Given the description of an element on the screen output the (x, y) to click on. 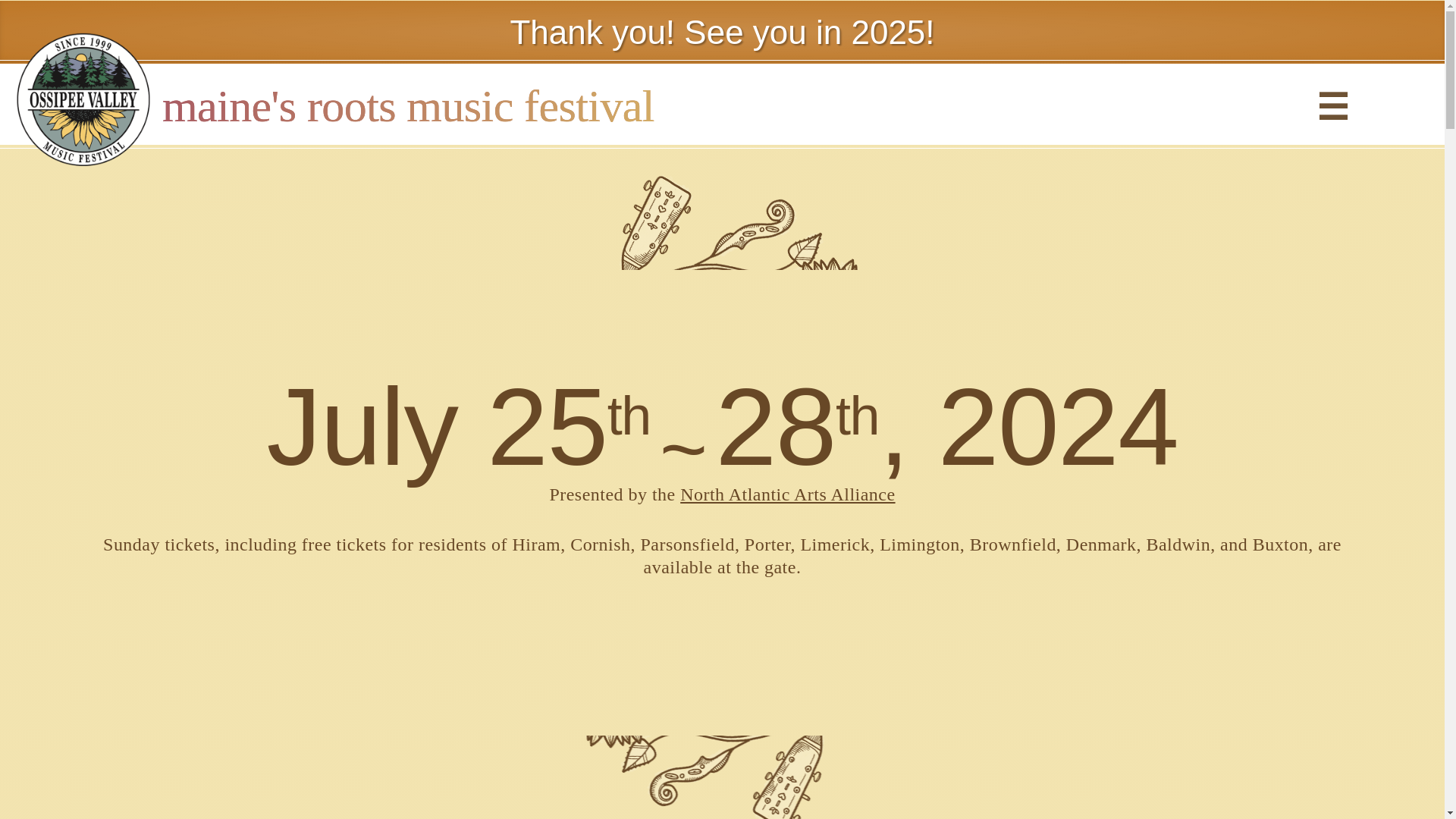
maine's roots music festival (407, 106)
North Atlantic Arts Alliance (787, 494)
Menu (1331, 104)
